Given the description of an element on the screen output the (x, y) to click on. 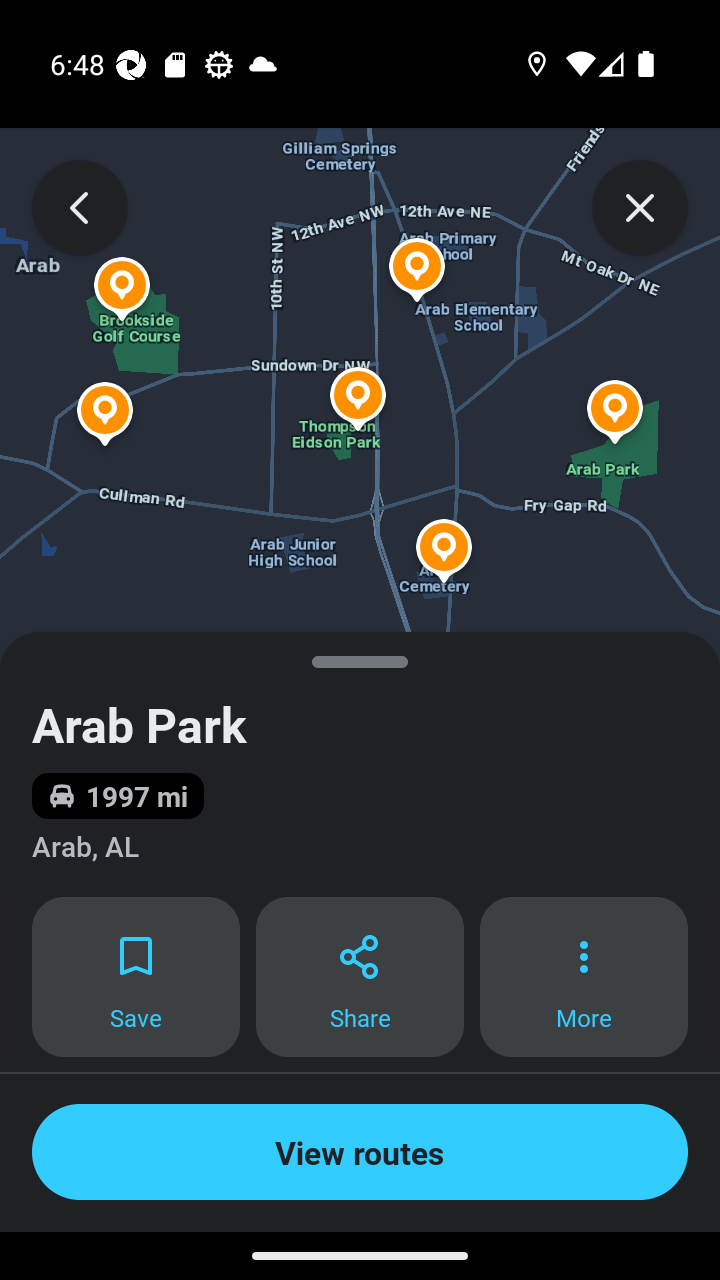
Arab Park 1997 mi Arab, AL (360, 764)
Save (135, 977)
Share (359, 977)
More (584, 977)
View routes (359, 1151)
